Given the description of an element on the screen output the (x, y) to click on. 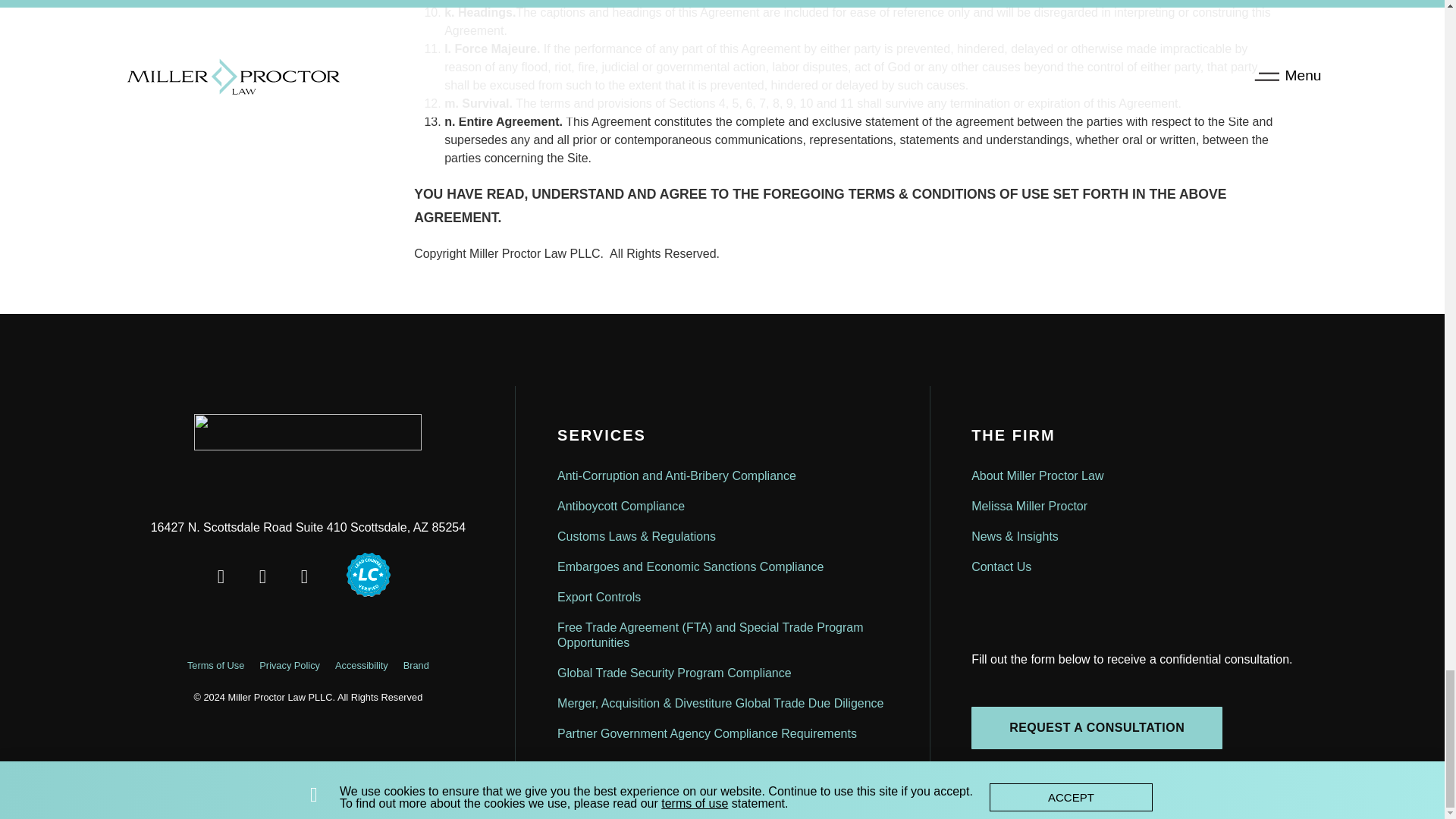
Export Controls (722, 597)
Partner Government Agency Compliance Requirements (722, 734)
Antiboycott Compliance (722, 506)
Contact Us (1136, 567)
Privacy Policy (289, 665)
Anti-Corruption and Anti-Bribery Compliance (722, 476)
Accessibility (361, 665)
Embargoes and Economic Sanctions Compliance (722, 567)
Brand (416, 665)
Global Trade Security Program Compliance (722, 673)
About Miller Proctor Law (1136, 476)
Melissa Miller Proctor (1136, 506)
Terms of Use (215, 665)
